Given the description of an element on the screen output the (x, y) to click on. 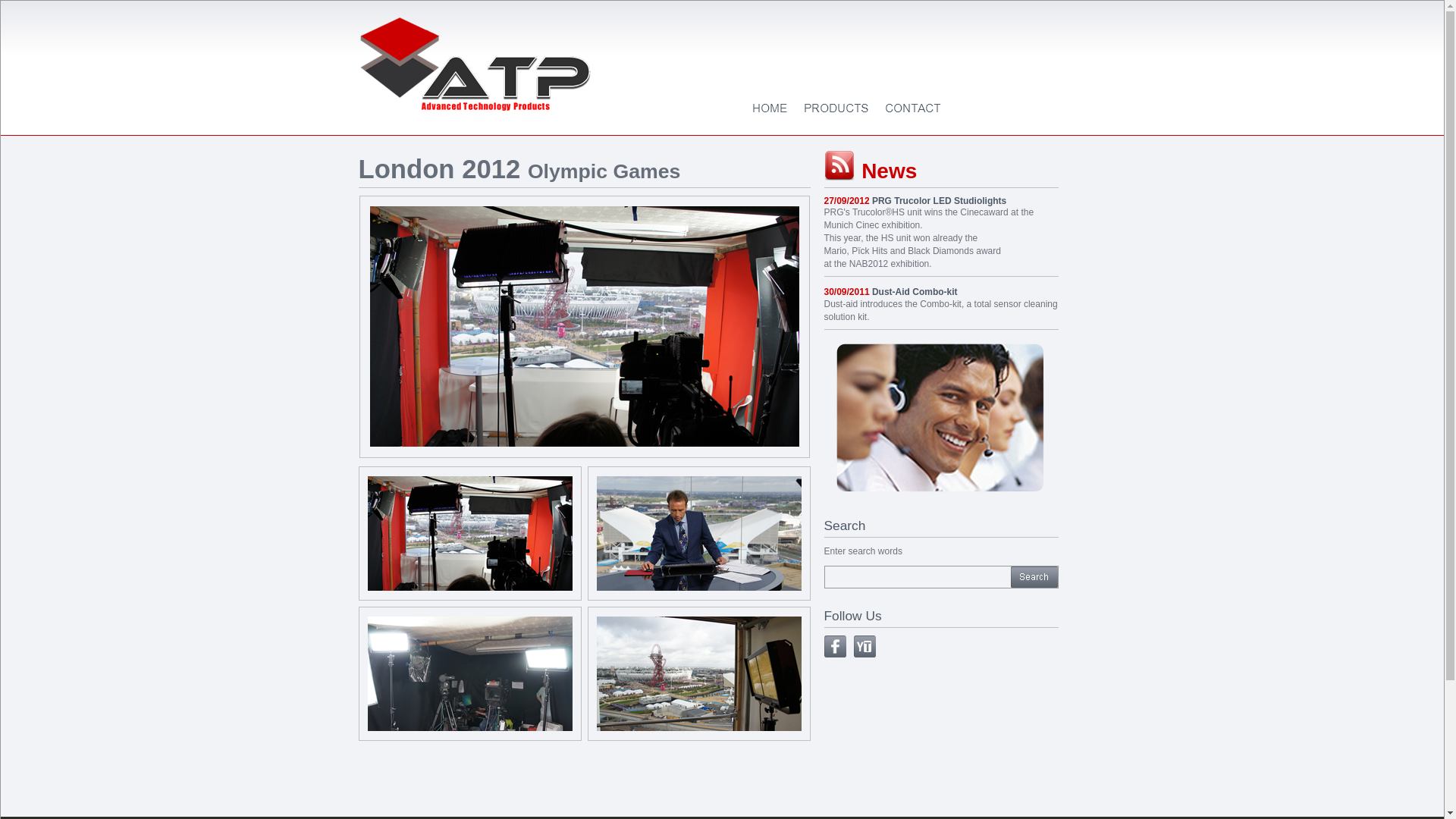
/09/2012 Element type: text (851, 200)
9e4f783dfa54fc077208f6e5471cc0d9.png Element type: hover (834, 646)
Newsfeed-icon-3.png Element type: hover (838, 165)
8700528b42fb729f9d2574378a7df3e4.png Element type: hover (864, 646)
page_4_pic_1.jpg Element type: hover (940, 417)
30/09/2011 Element type: text (846, 291)
